Given the description of an element on the screen output the (x, y) to click on. 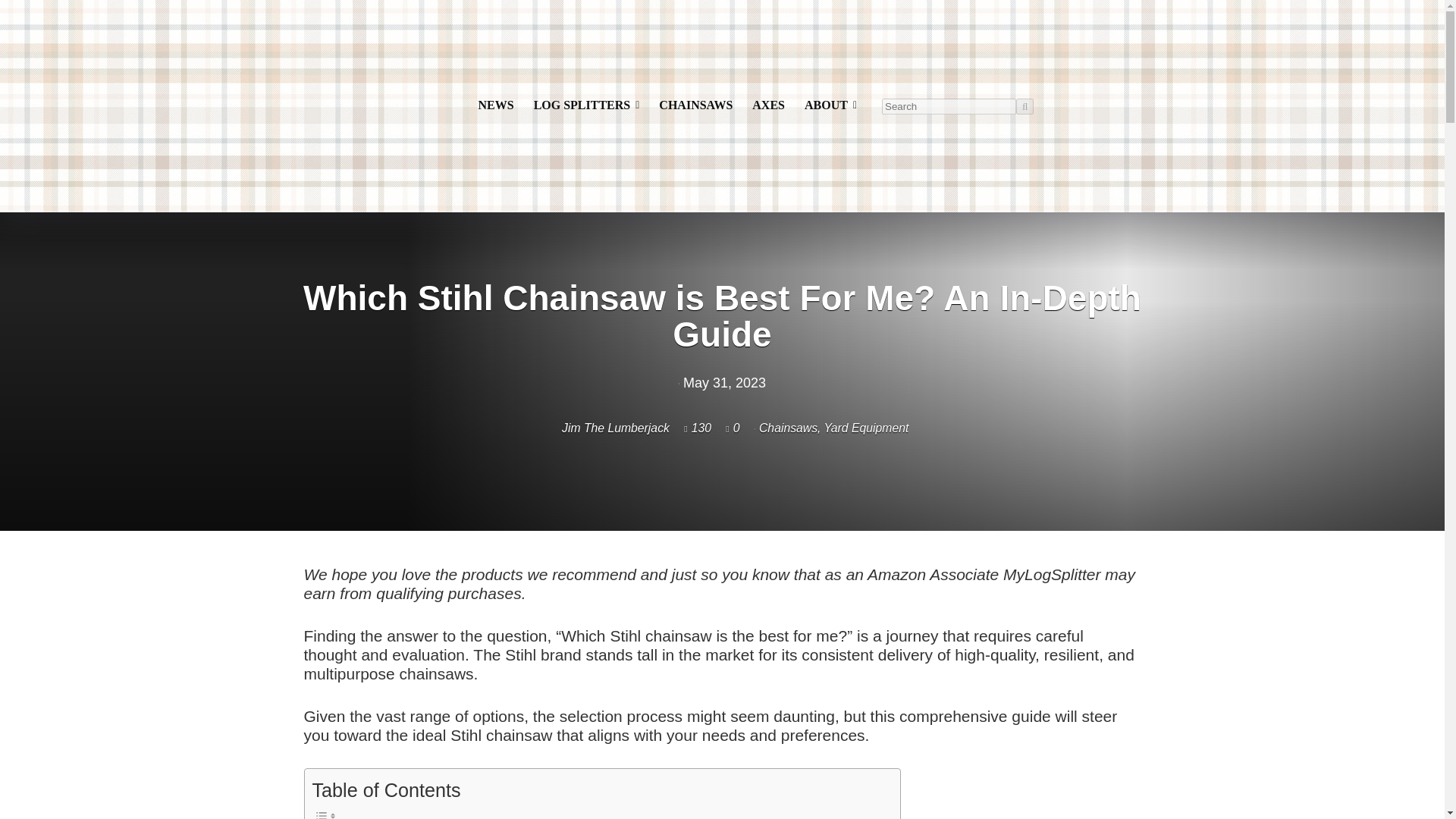
View all posts in Chainsaws (787, 427)
AXES (768, 105)
CHAINSAWS (695, 105)
View all posts in Yard Equipment (866, 427)
Chainsaws (787, 427)
LOG SPLITTERS (586, 105)
NEWS (496, 105)
Jim The Lumberjack (596, 427)
Yard Equipment (866, 427)
ABOUT (830, 105)
